Given the description of an element on the screen output the (x, y) to click on. 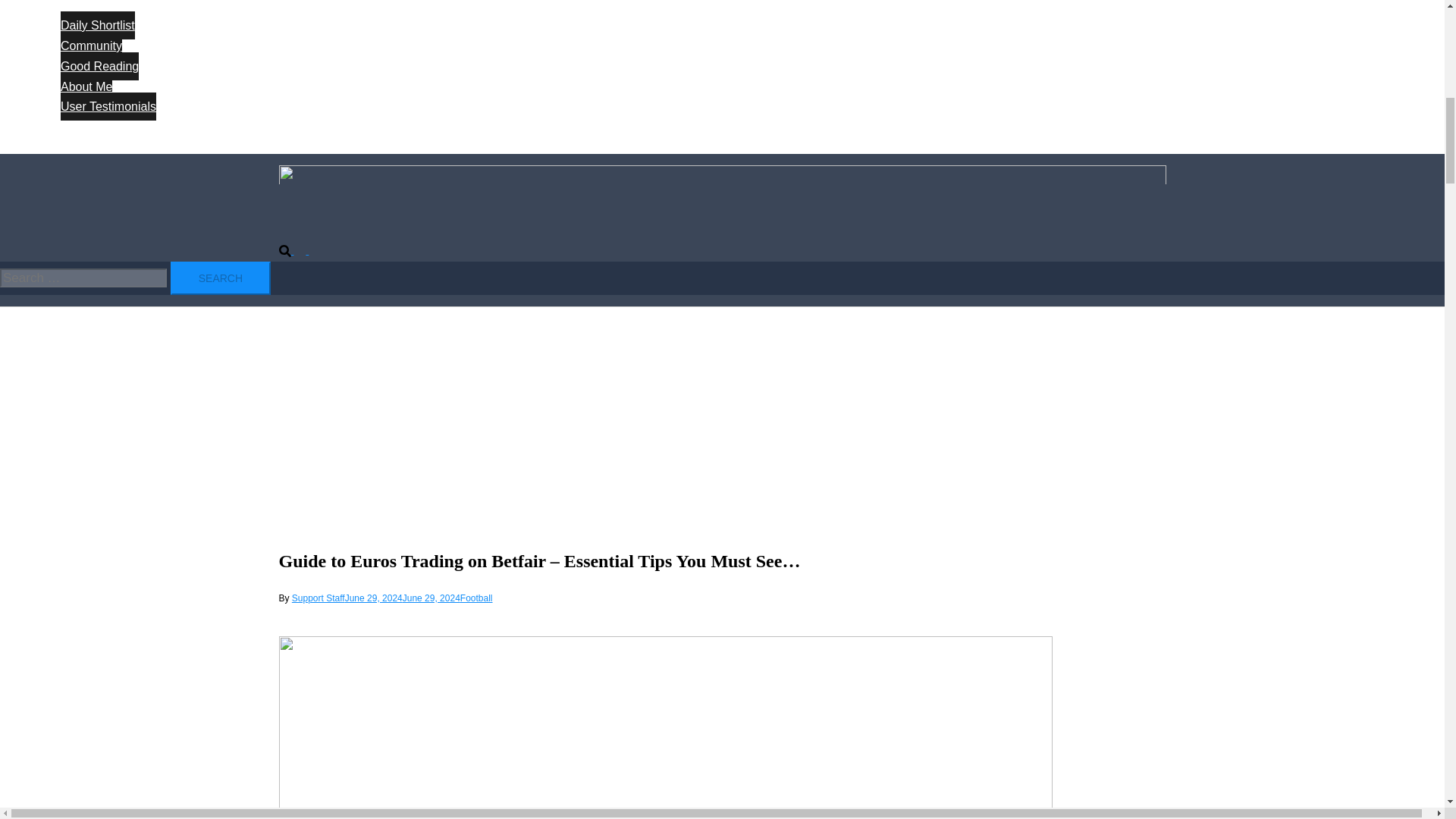
Search (220, 277)
Good Reading (99, 66)
Search (220, 277)
Community (91, 45)
User Testimonials (108, 106)
Daily Shortlist (98, 25)
About Me (86, 86)
